Given the description of an element on the screen output the (x, y) to click on. 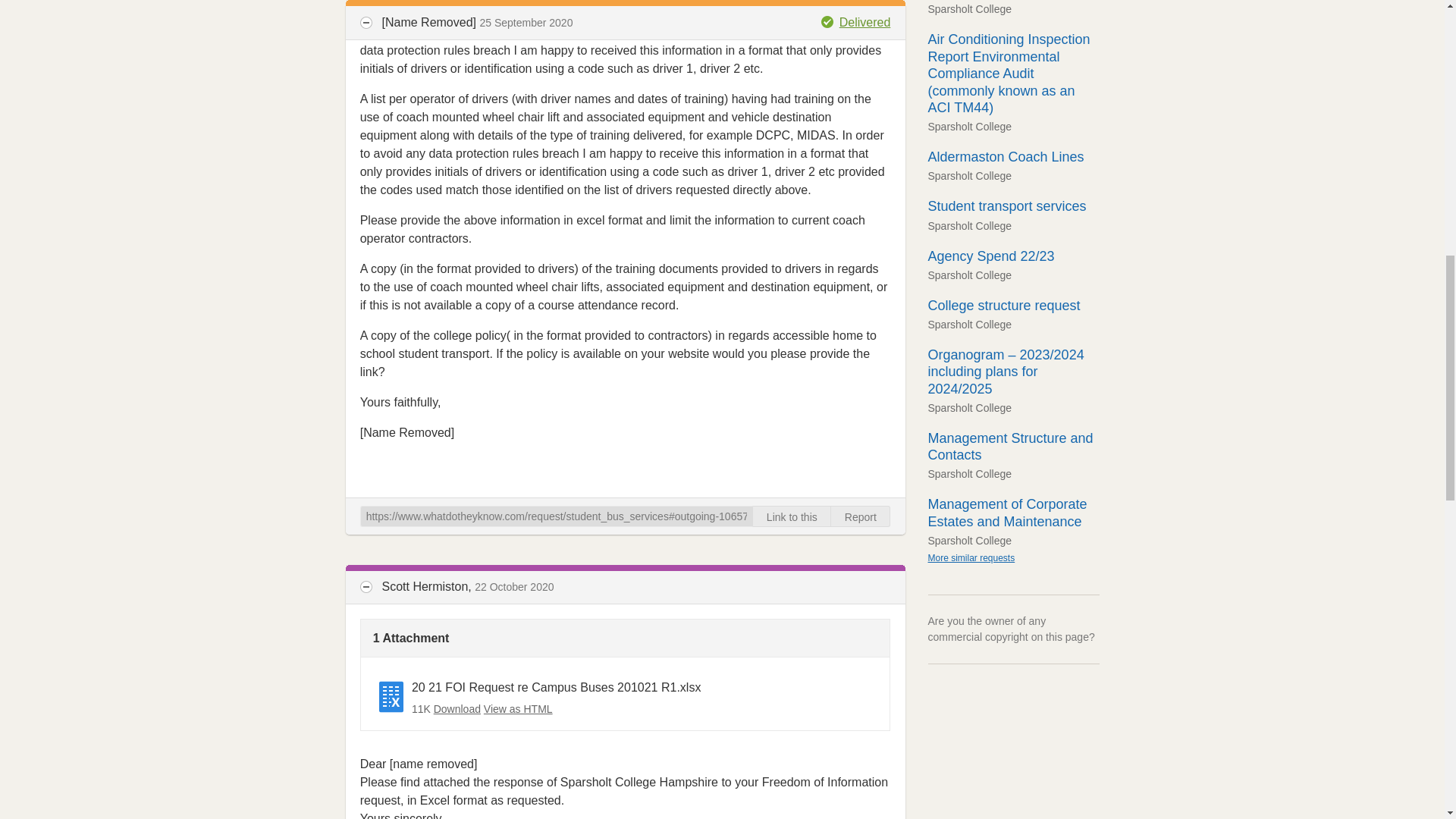
Download (456, 708)
View as HTML (518, 708)
Report (860, 516)
22 October 2020 (513, 586)
Link to this (791, 516)
